Given the description of an element on the screen output the (x, y) to click on. 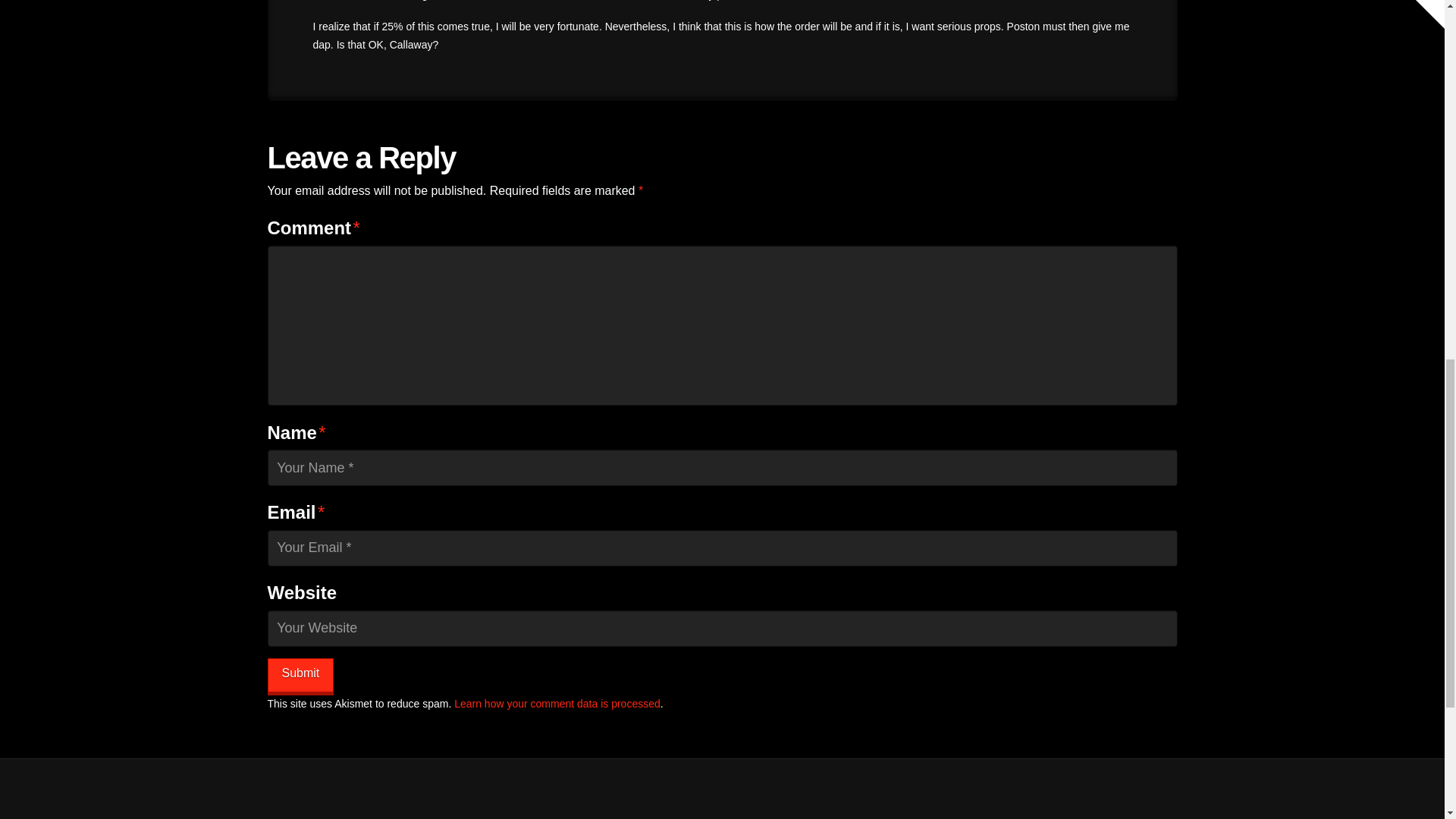
Submit (299, 675)
